Given the description of an element on the screen output the (x, y) to click on. 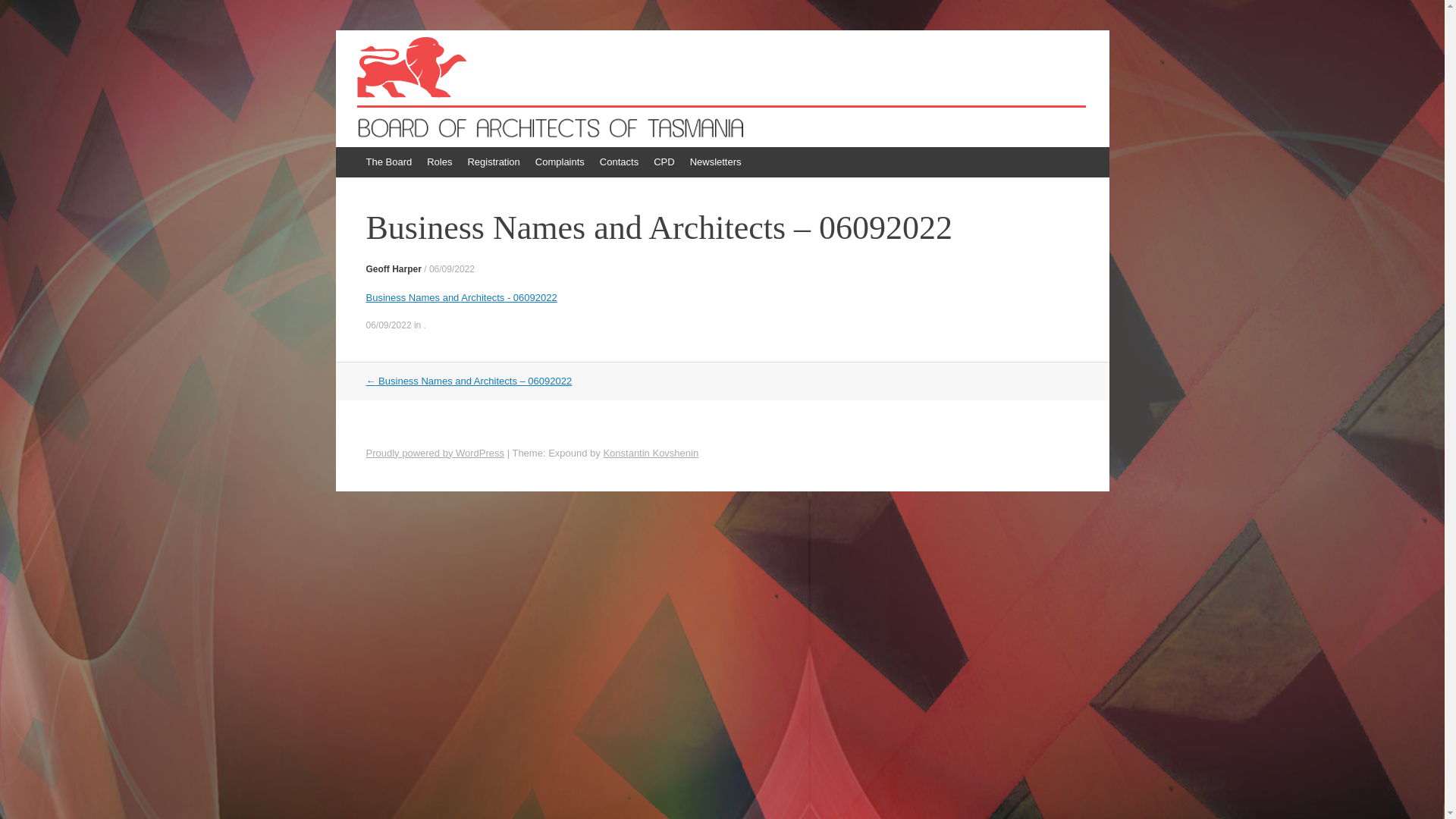
Complaints Element type: text (559, 162)
Geoff Harper Element type: text (392, 268)
Konstantin Kovshenin Element type: text (650, 452)
06/09/2022 Element type: text (451, 268)
Registration Element type: text (493, 162)
Board of Architects Element type: text (466, 81)
CPD Element type: text (663, 162)
Proudly powered by WordPress Element type: text (434, 452)
The Board Element type: text (388, 162)
Roles Element type: text (439, 162)
Skip to content Element type: text (343, 154)
Contacts Element type: text (619, 162)
06/09/2022 Element type: text (388, 325)
Newsletters Element type: text (715, 162)
Business Names and Architects - 06092022 Element type: text (460, 296)
